Given the description of an element on the screen output the (x, y) to click on. 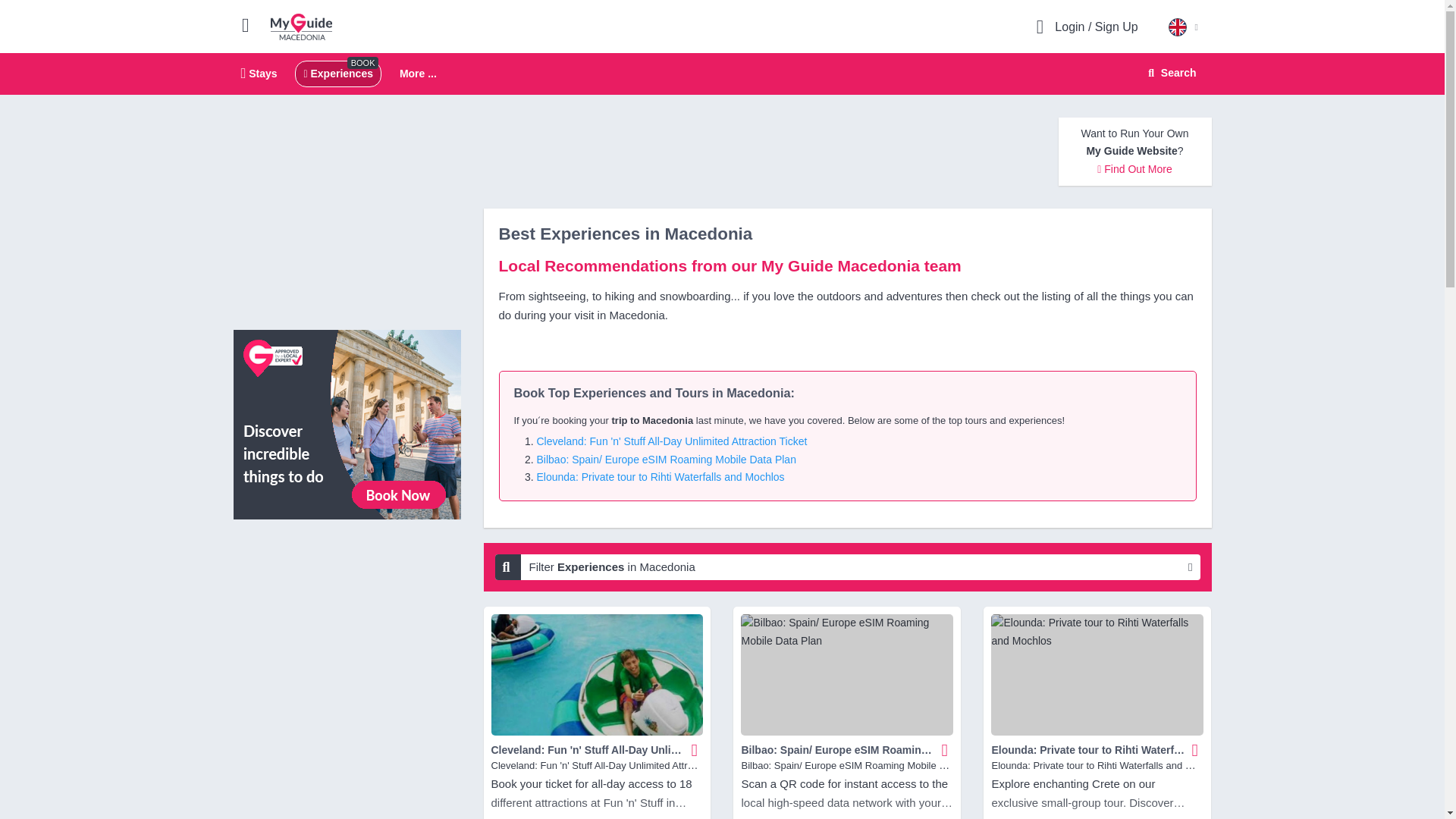
Add to My Guide (944, 749)
More ... (417, 73)
Stays (259, 73)
Search (1169, 72)
My Guide Macedonia (300, 25)
Add to My Guide (694, 749)
Experiences (337, 73)
GetYourGuide Widget (346, 599)
Toggle Menu (251, 24)
Add to My Guide (721, 74)
